Given the description of an element on the screen output the (x, y) to click on. 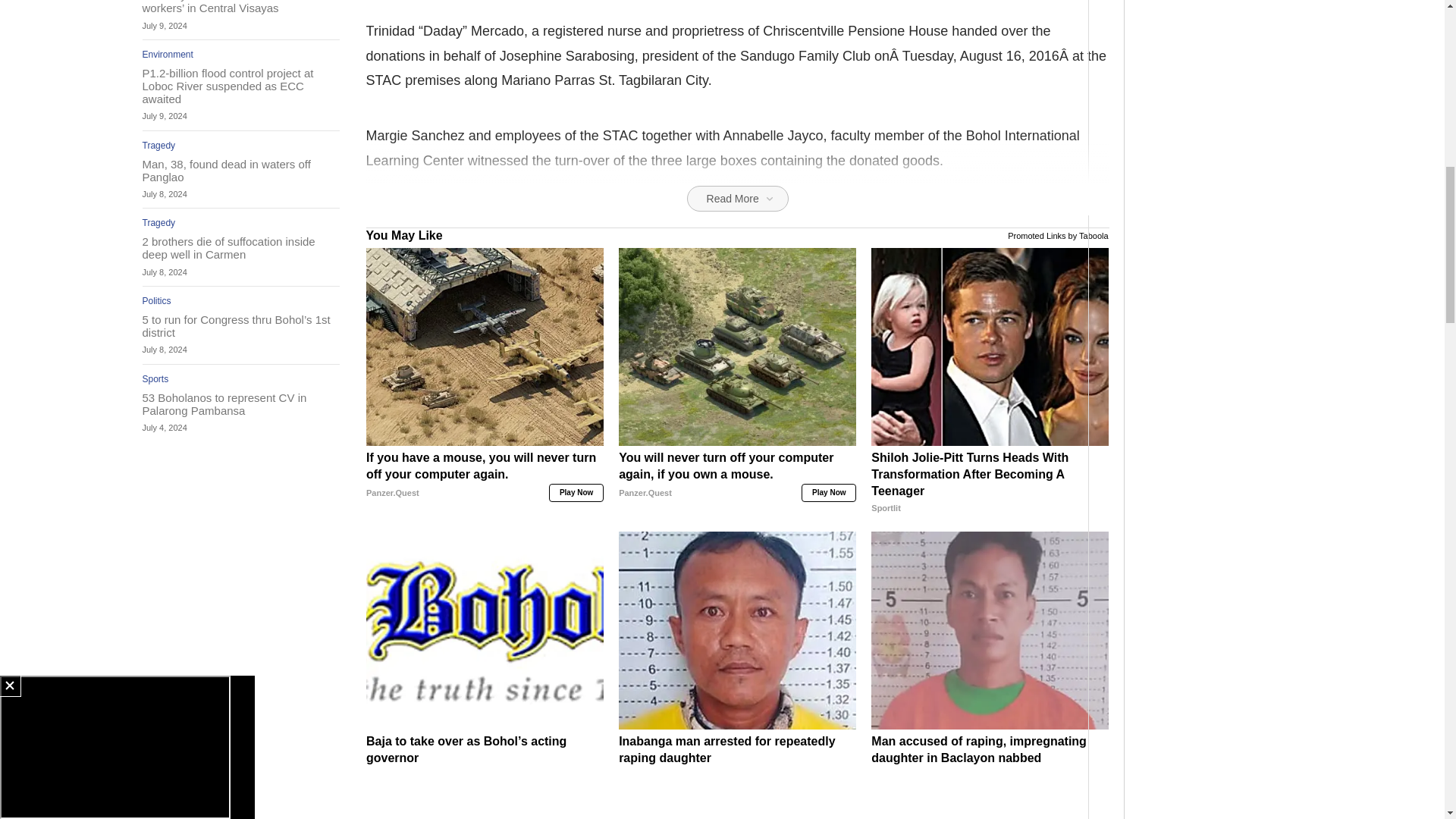
Environment (167, 54)
Tragedy (159, 145)
